Given the description of an element on the screen output the (x, y) to click on. 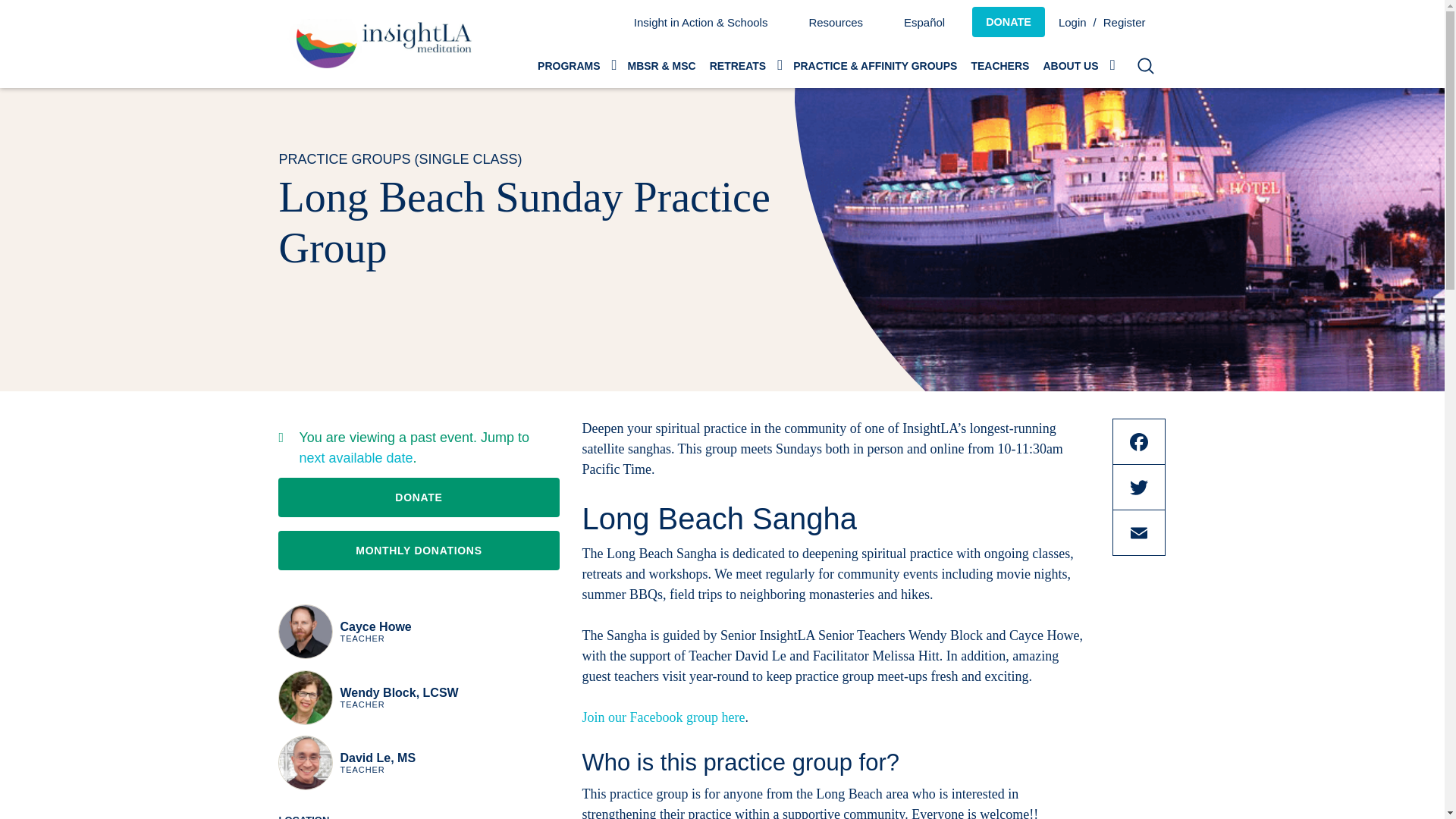
Register (1130, 21)
RETREATS (744, 65)
Login (1074, 21)
TEACHERS (999, 65)
PROGRAMS (575, 65)
DONATE (1008, 21)
ABOUT US (1076, 65)
Resources (835, 21)
